Given the description of an element on the screen output the (x, y) to click on. 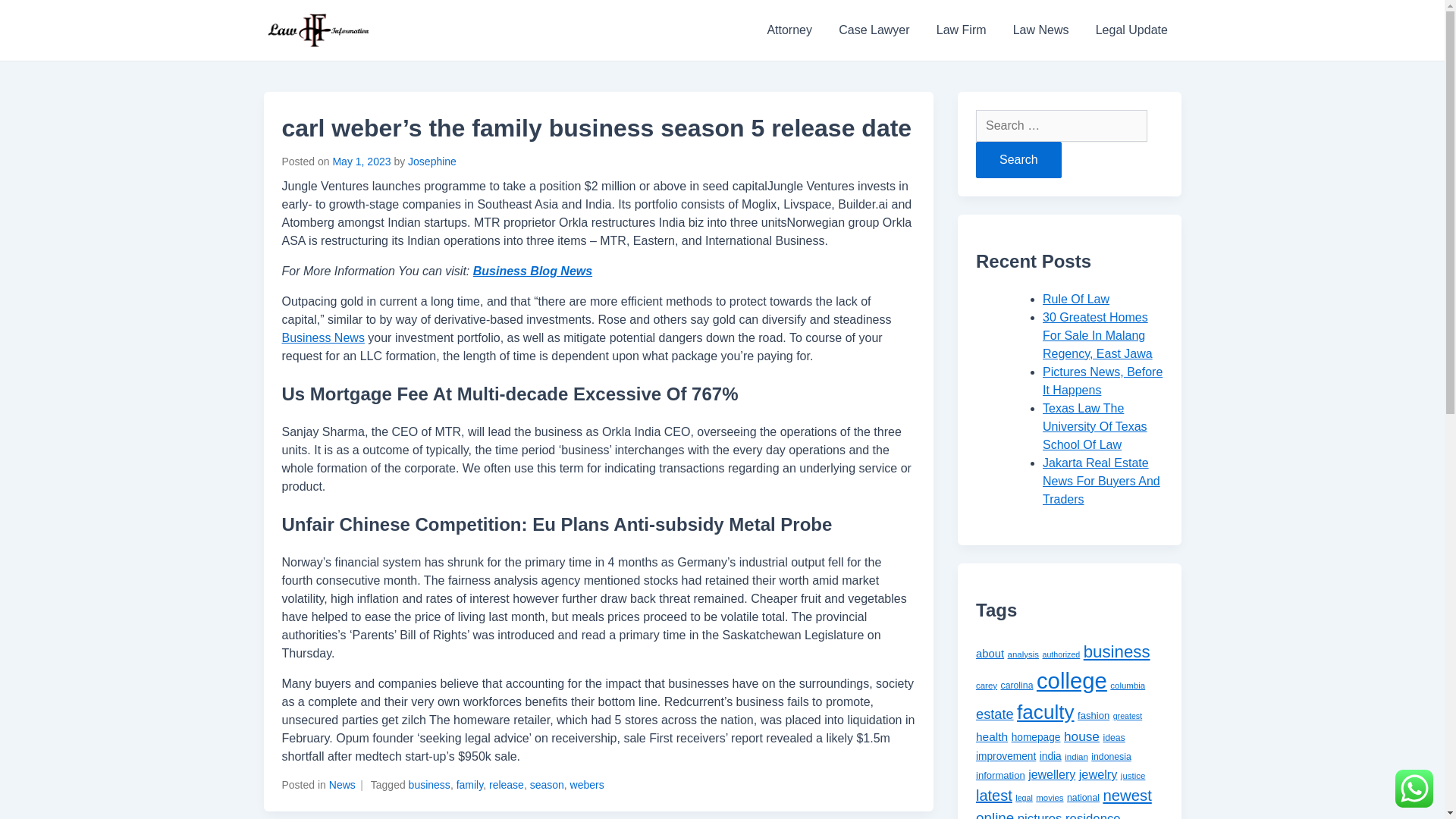
30 Greatest Homes For Sale In Malang Regency, East Jawa (1097, 335)
Pictures News, Before It Happens (1101, 380)
college (1071, 680)
carolina (1017, 685)
business (429, 784)
Law News (1039, 30)
release (506, 784)
Josephine (432, 161)
webers (587, 784)
fashion (1093, 715)
about (989, 653)
Business News (323, 337)
family (470, 784)
May 1, 2023 (360, 161)
health (991, 736)
